Given the description of an element on the screen output the (x, y) to click on. 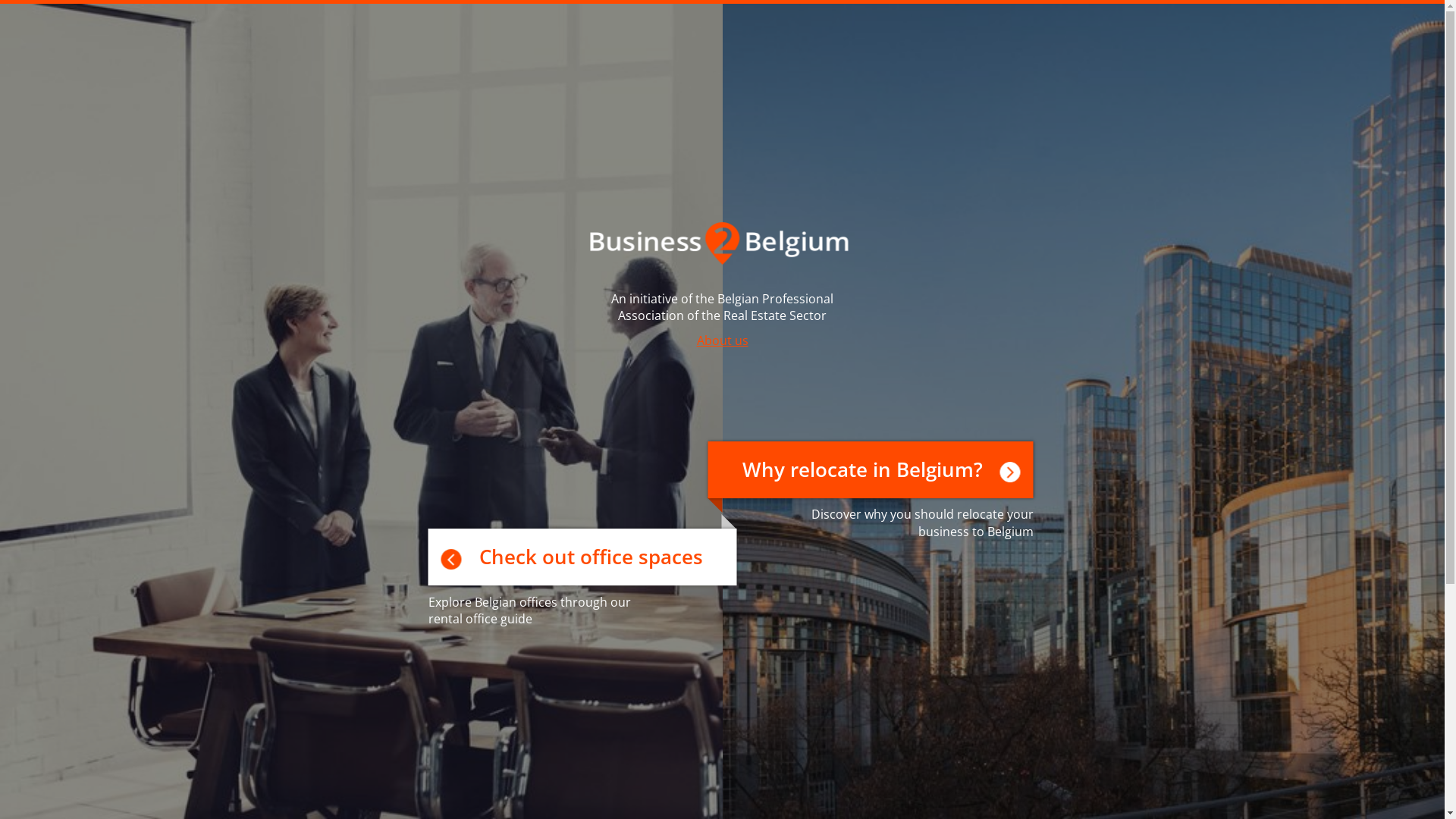
About us Element type: text (721, 340)
Why relocate in Belgium? Element type: text (870, 469)
Check out office spaces Element type: text (581, 556)
